Given the description of an element on the screen output the (x, y) to click on. 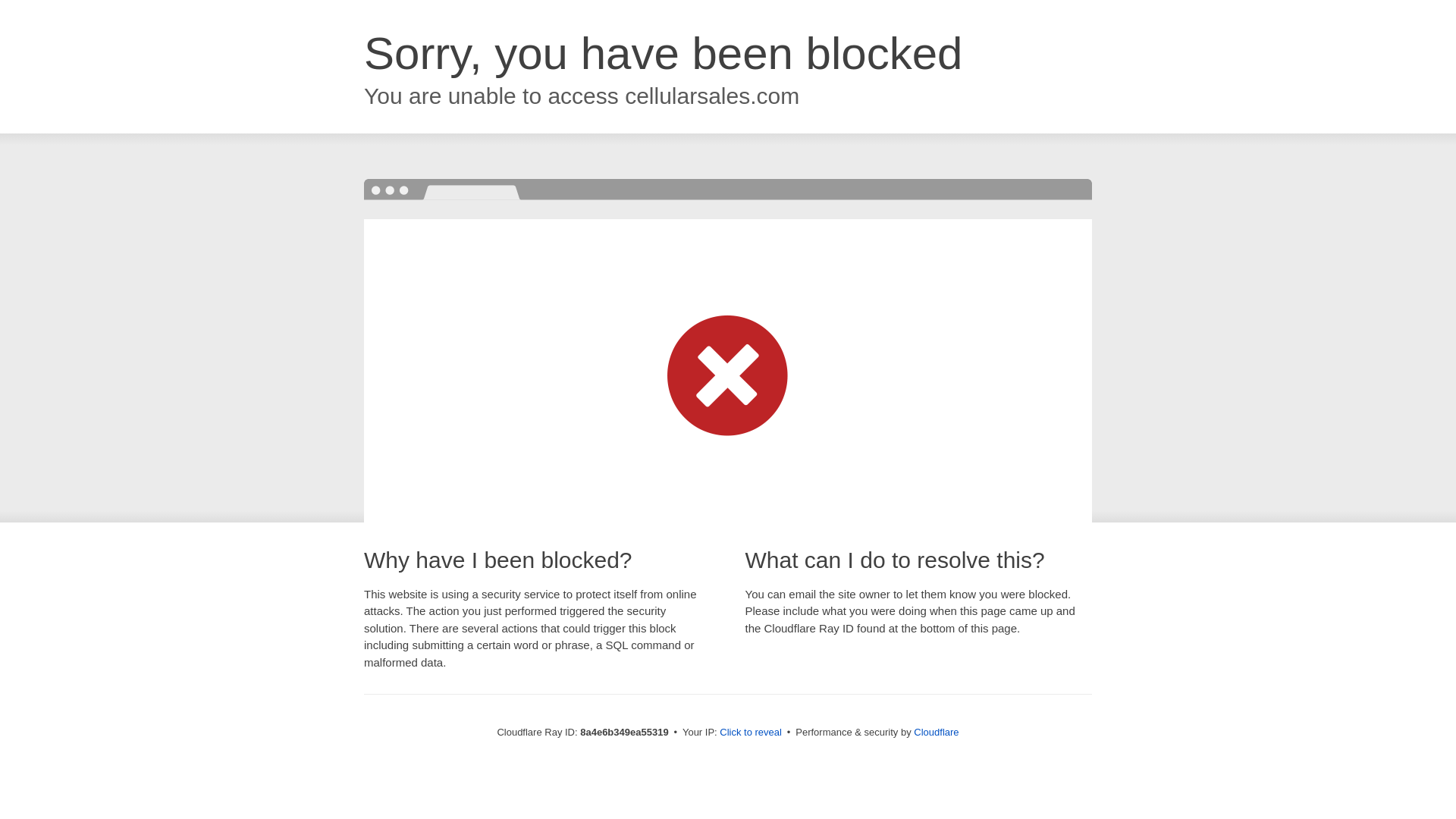
Cloudflare (936, 731)
Click to reveal (750, 732)
